Given the description of an element on the screen output the (x, y) to click on. 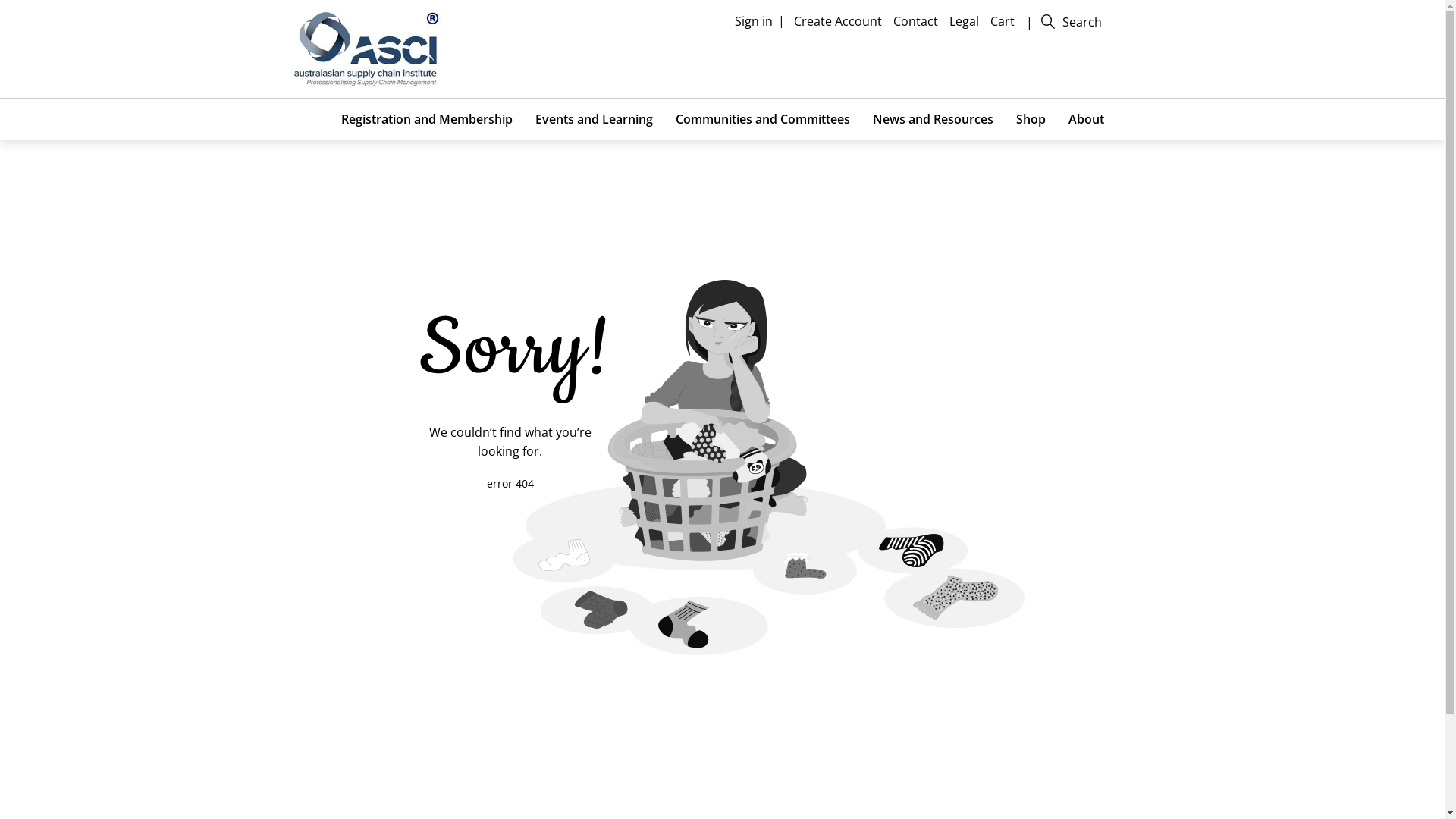
Contact Element type: text (915, 21)
Cart Element type: text (1001, 21)
Go Element type: text (31, 14)
Legal Element type: text (963, 21)
Registration and Membership Element type: text (426, 119)
Events and Learning Element type: text (593, 119)
News and Resources Element type: text (932, 119)
Communities and Committees Element type: text (762, 119)
About Element type: text (1086, 119)
Create Account Element type: text (837, 21)
Home Element type: hover (365, 47)
Shop Element type: text (1030, 119)
Sign in Element type: text (752, 20)
